Given the description of an element on the screen output the (x, y) to click on. 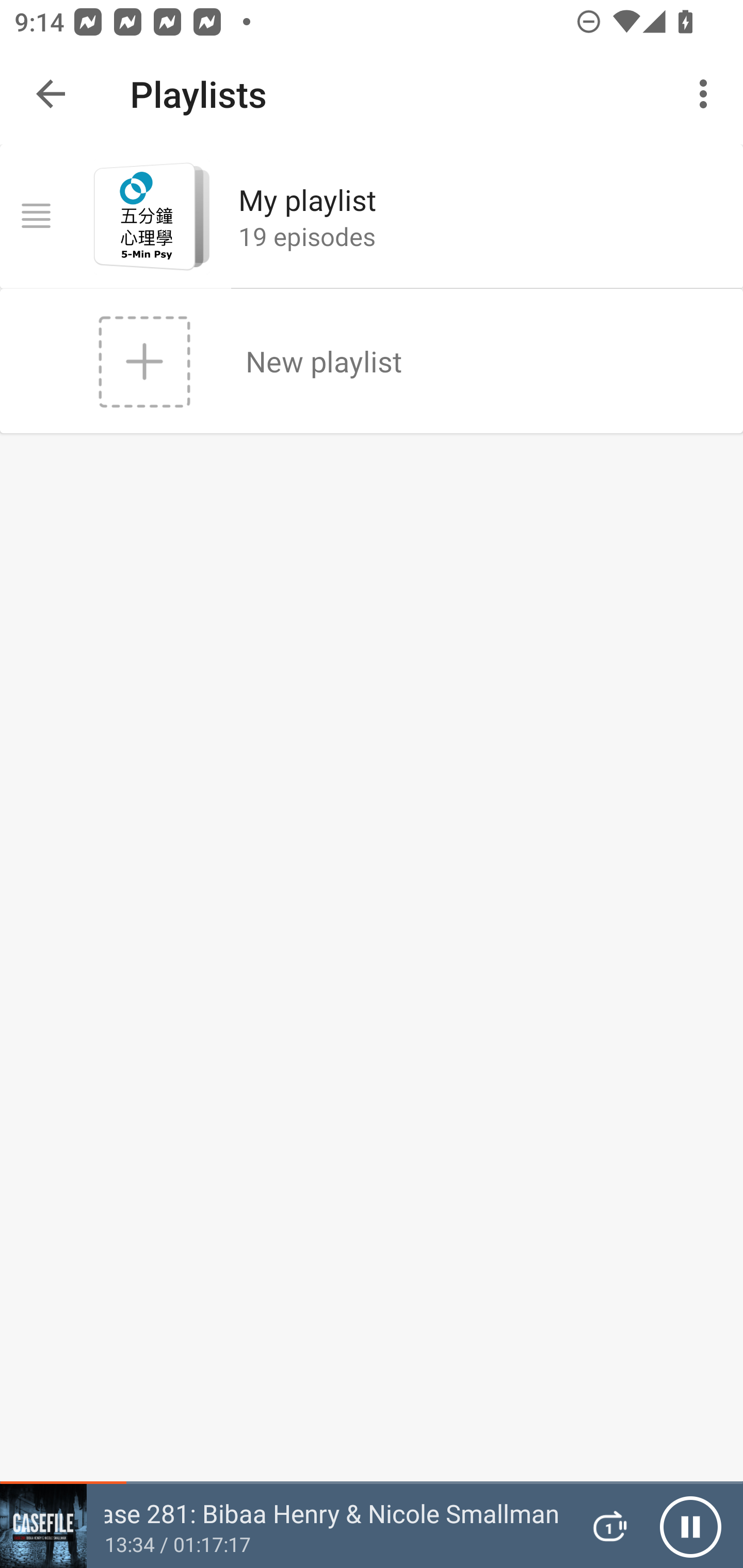
Navigate up (50, 93)
More options (706, 93)
 Hold and drag to reorder My playlist 19 episodes (371, 216)
New playlist (371, 360)
Pause (690, 1526)
